Given the description of an element on the screen output the (x, y) to click on. 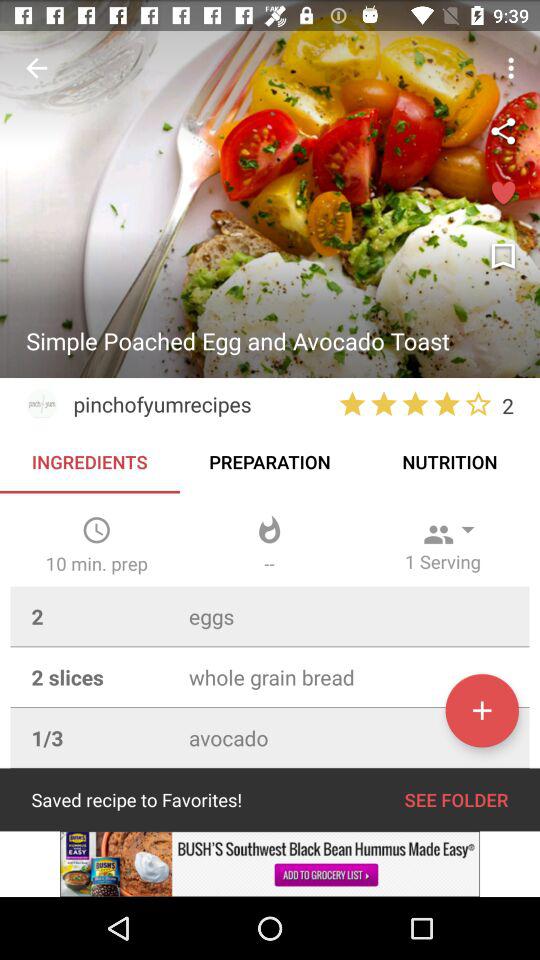
add to favorites (503, 194)
